Given the description of an element on the screen output the (x, y) to click on. 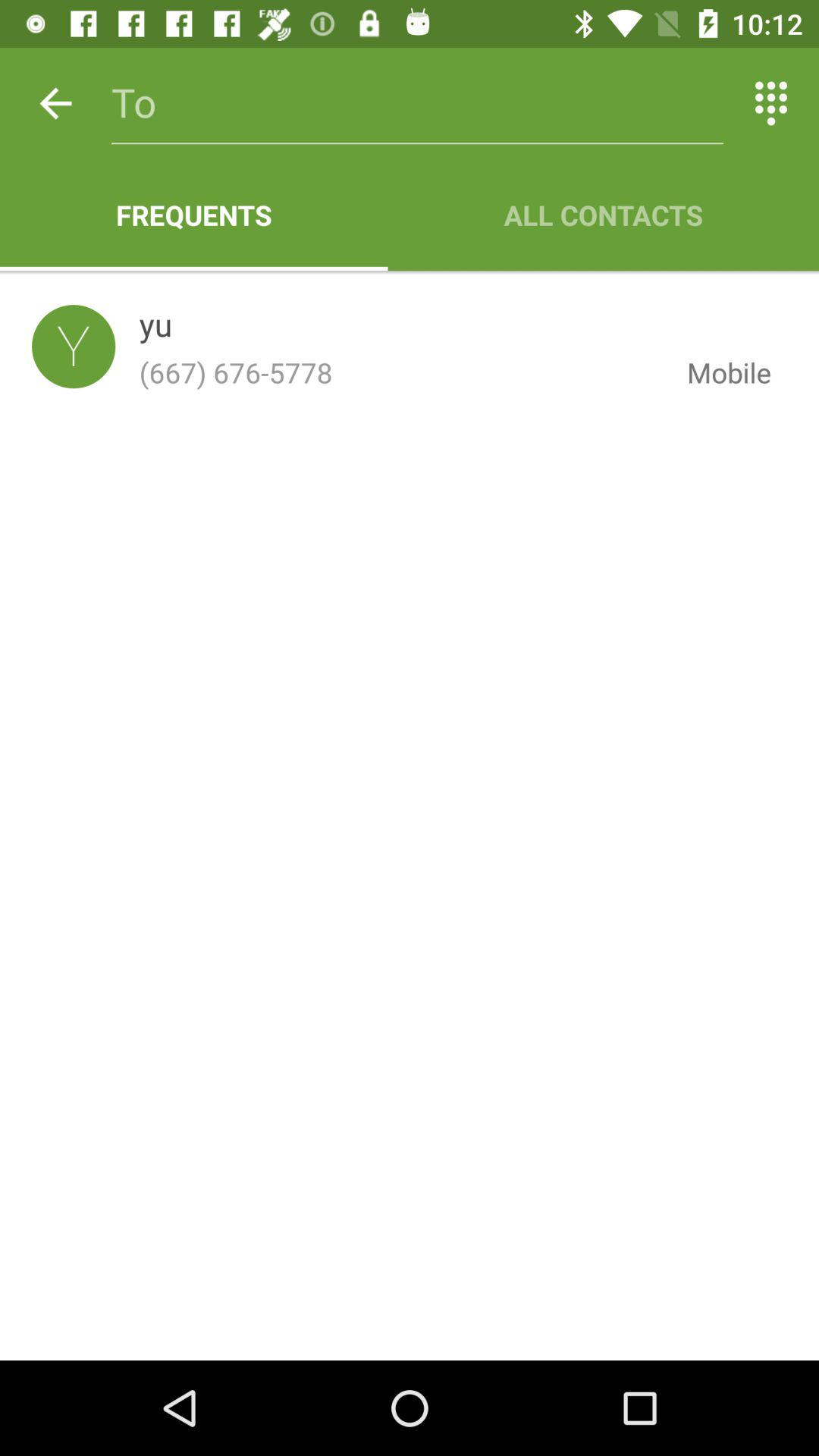
turn on app next to all contacts icon (193, 214)
